Given the description of an element on the screen output the (x, y) to click on. 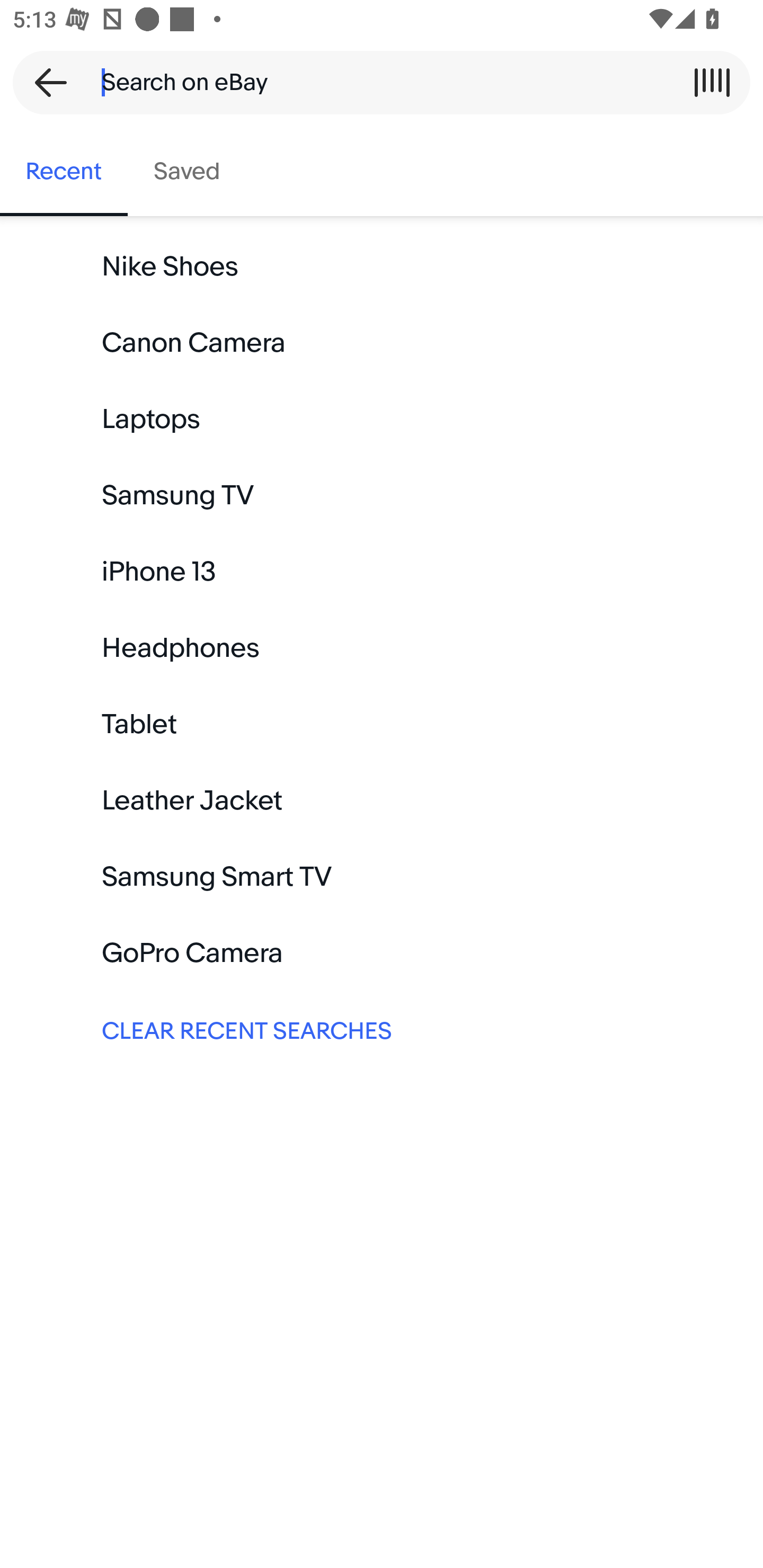
Back (44, 82)
Scan a barcode (711, 82)
Search on eBay (375, 82)
Saved, tab 2 of 2 Saved (186, 171)
Nike Shoes Keyword search Nike Shoes: (381, 266)
Canon Camera Keyword search Canon Camera: (381, 343)
Laptops Keyword search Laptops: (381, 419)
Samsung TV Keyword search Samsung TV: (381, 495)
iPhone 13 Keyword search iPhone 13: (381, 571)
Headphones Keyword search Headphones: (381, 647)
Tablet Keyword search Tablet: (381, 724)
Leather Jacket Keyword search Leather Jacket: (381, 800)
Samsung Smart TV Keyword search Samsung Smart TV: (381, 876)
GoPro Camera Keyword search GoPro Camera: (381, 952)
CLEAR RECENT SEARCHES (381, 1028)
